Given the description of an element on the screen output the (x, y) to click on. 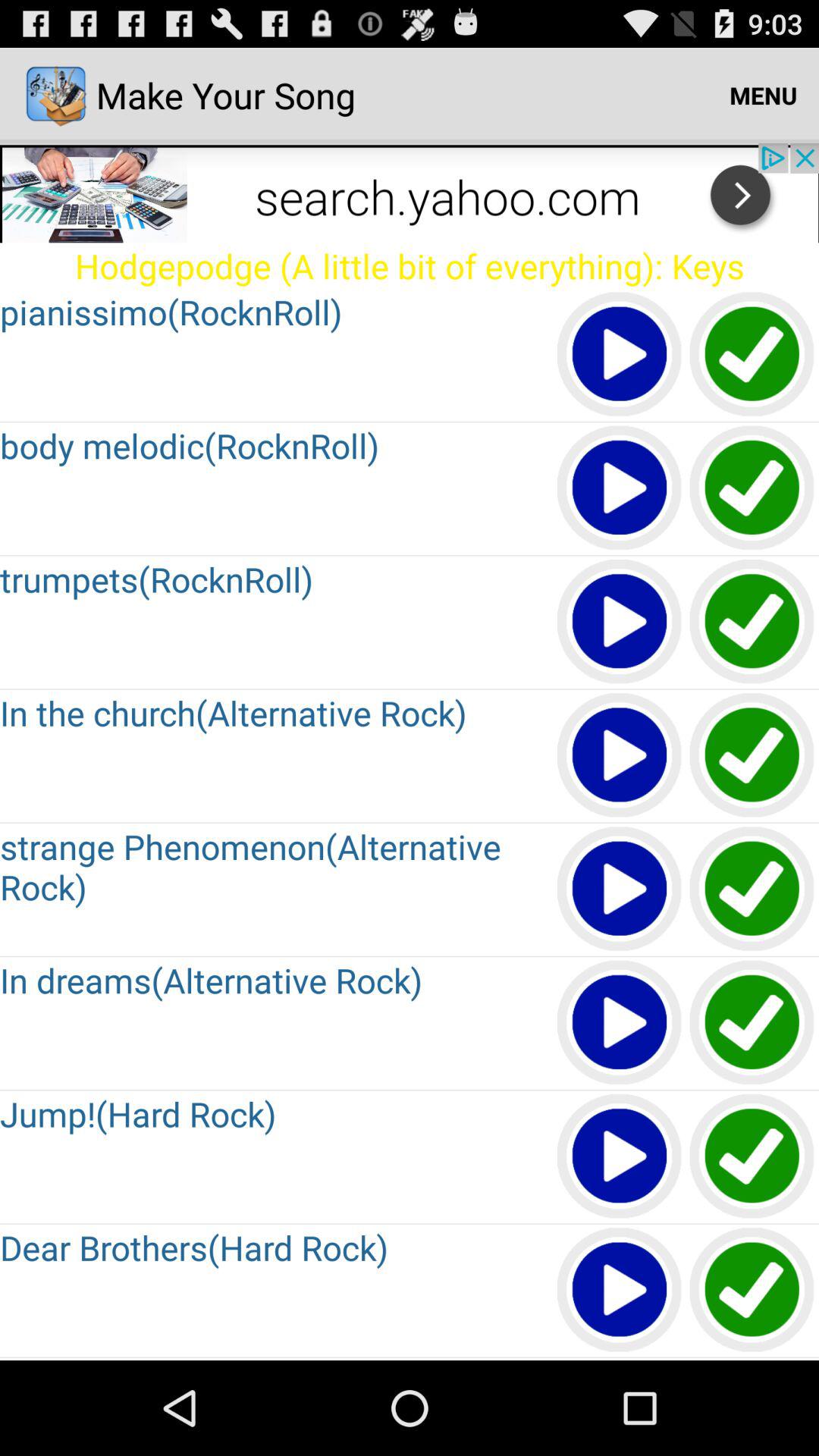
play (619, 1290)
